Given the description of an element on the screen output the (x, y) to click on. 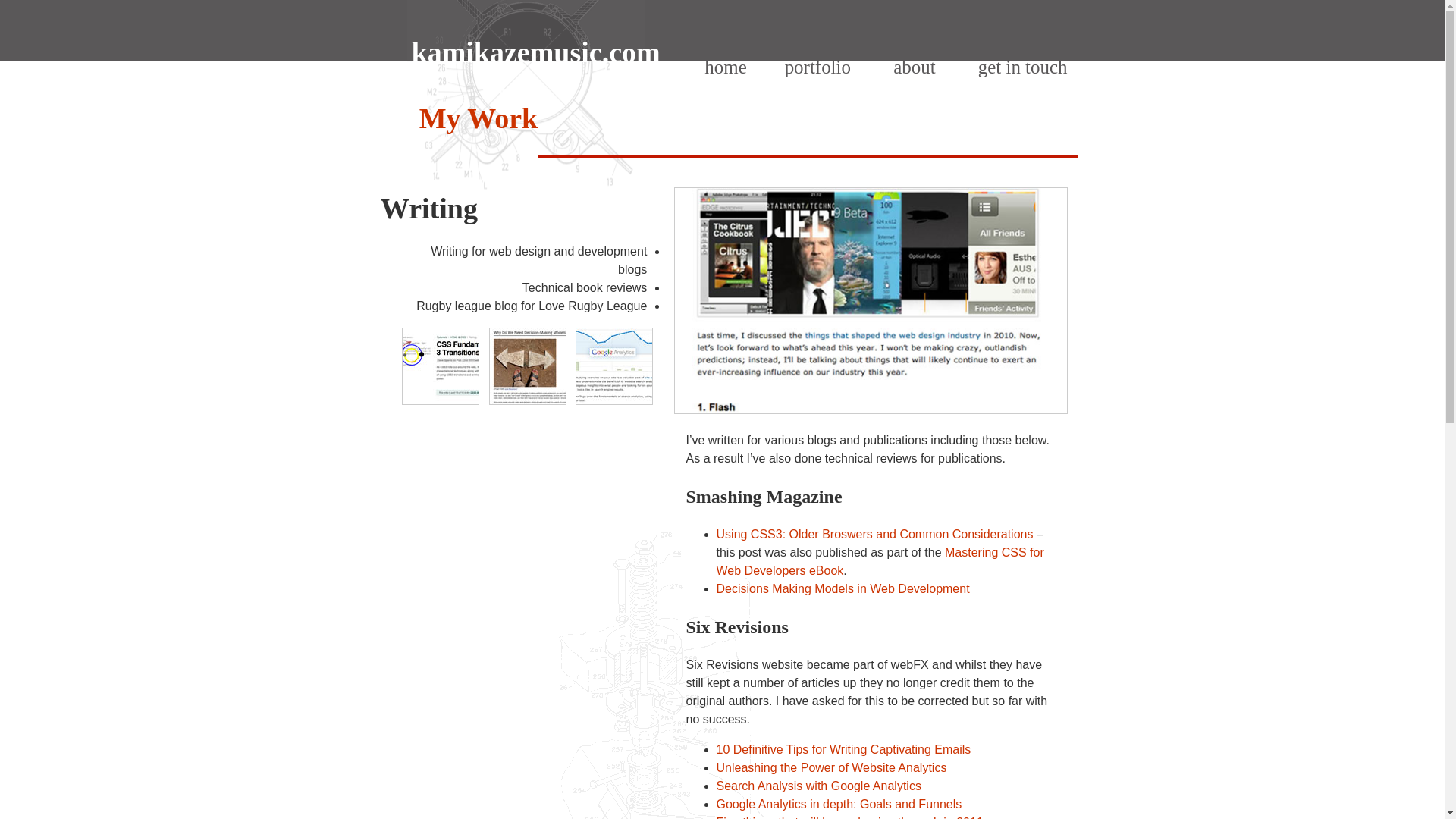
Unleashing the Power of Website Analytics (831, 767)
Decisions Making Models in Web Development (842, 588)
kamikazemusic.com (534, 51)
home (725, 67)
get in touch (1022, 67)
Search Analysis with Google Analytics (818, 785)
My Work (478, 118)
10 Definitive Tips for Writing Captivating Emails (843, 748)
portfolio (817, 67)
Google Analytics in depth: Goals and Funnels (839, 803)
KamikazeMusic (534, 51)
about (914, 67)
Mastering CSS for Web Developers eBook (879, 561)
Using CSS3: Older Broswers and Common Considerations (874, 533)
Five things that will keep shaping the web in 2011 (850, 817)
